Given the description of an element on the screen output the (x, y) to click on. 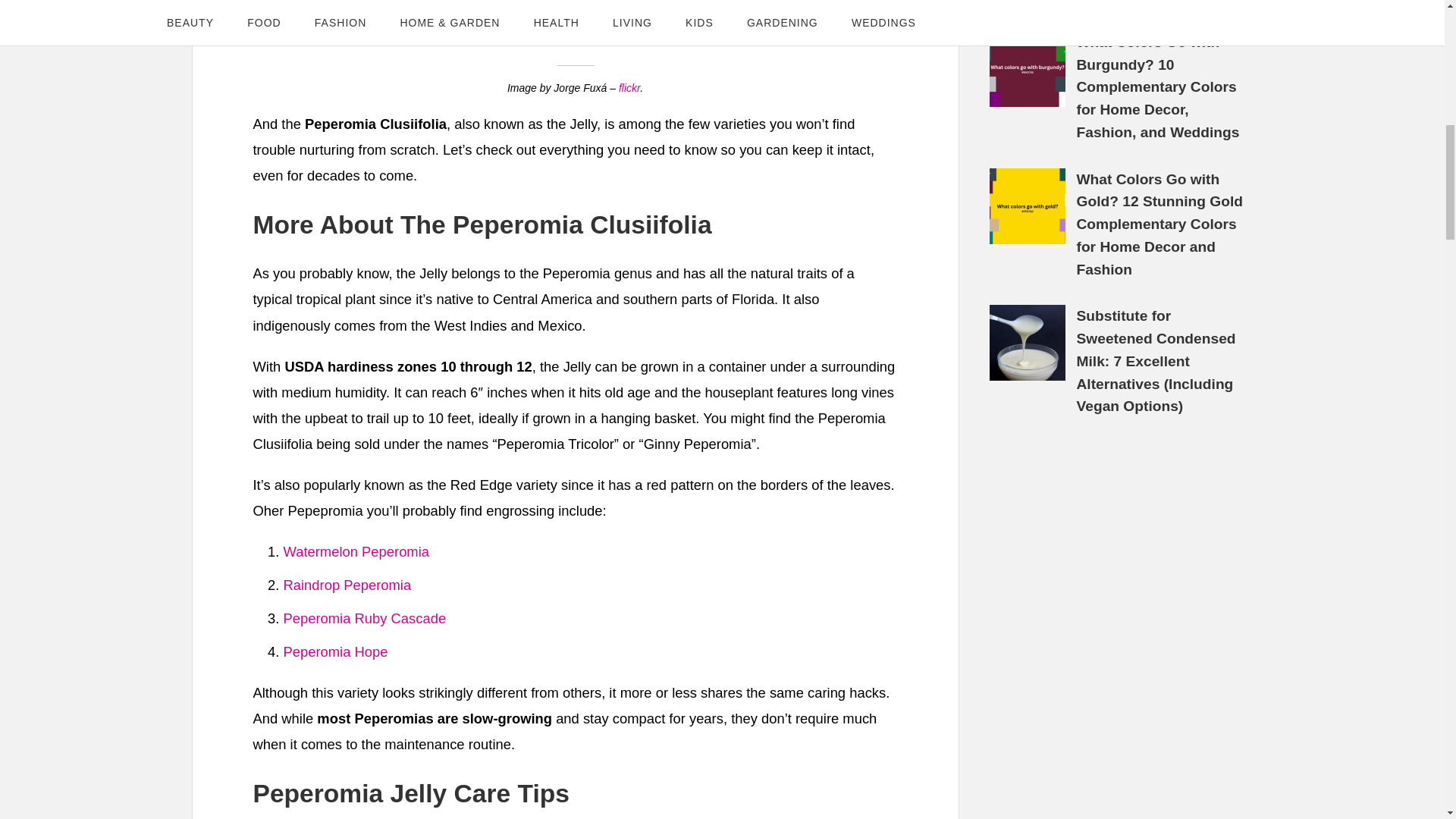
Peperomia Hope (335, 651)
Peperomia Ruby Cascade (364, 618)
Watermelon Peperomia (356, 551)
flickr (629, 87)
Raindrop Peperomia (347, 584)
